Given the description of an element on the screen output the (x, y) to click on. 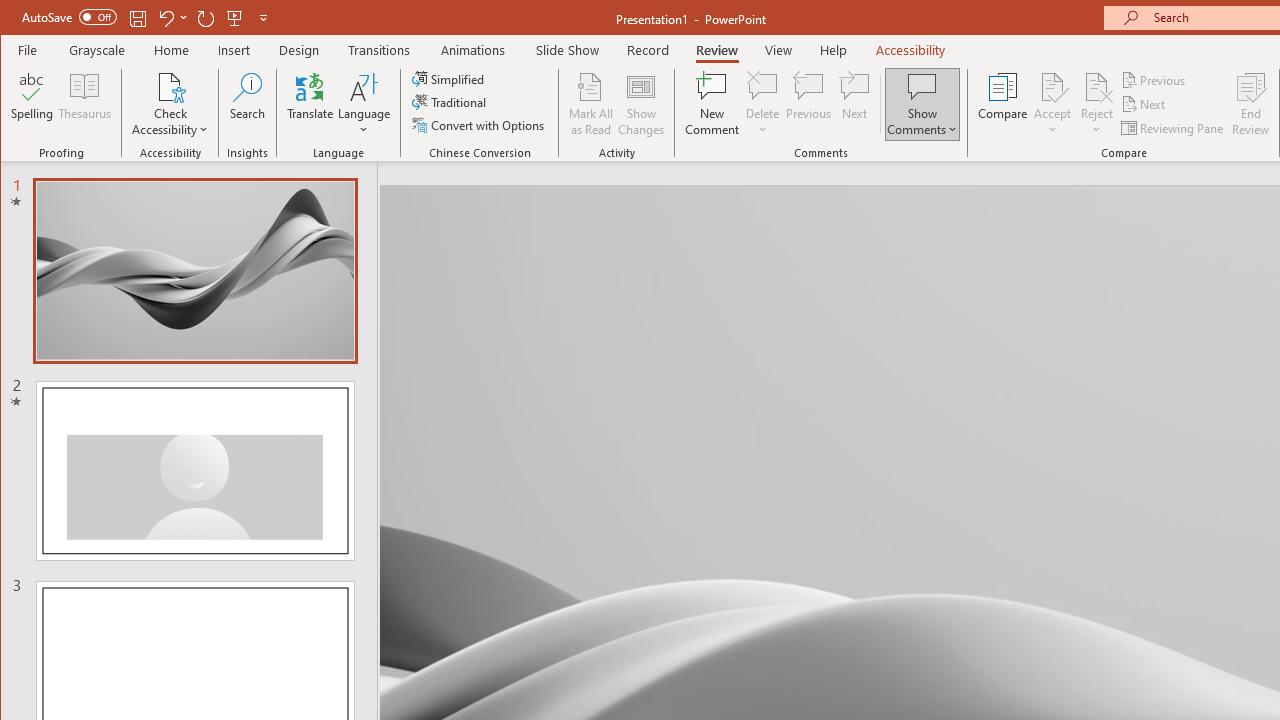
Show Changes (640, 104)
New Comment (712, 104)
Traditional (450, 101)
